Given the description of an element on the screen output the (x, y) to click on. 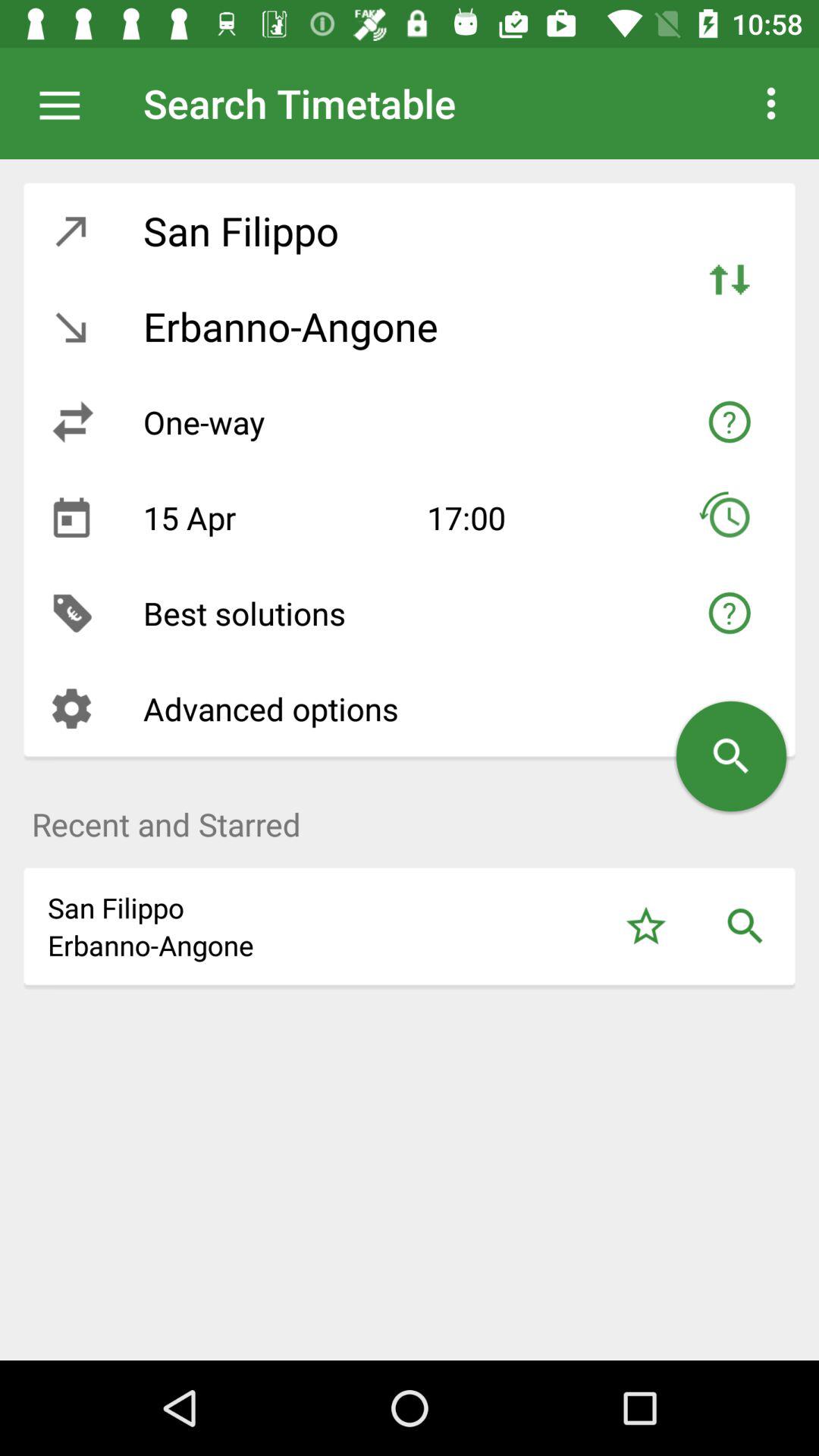
select the item to the right of the search timetable (771, 103)
